Given the description of an element on the screen output the (x, y) to click on. 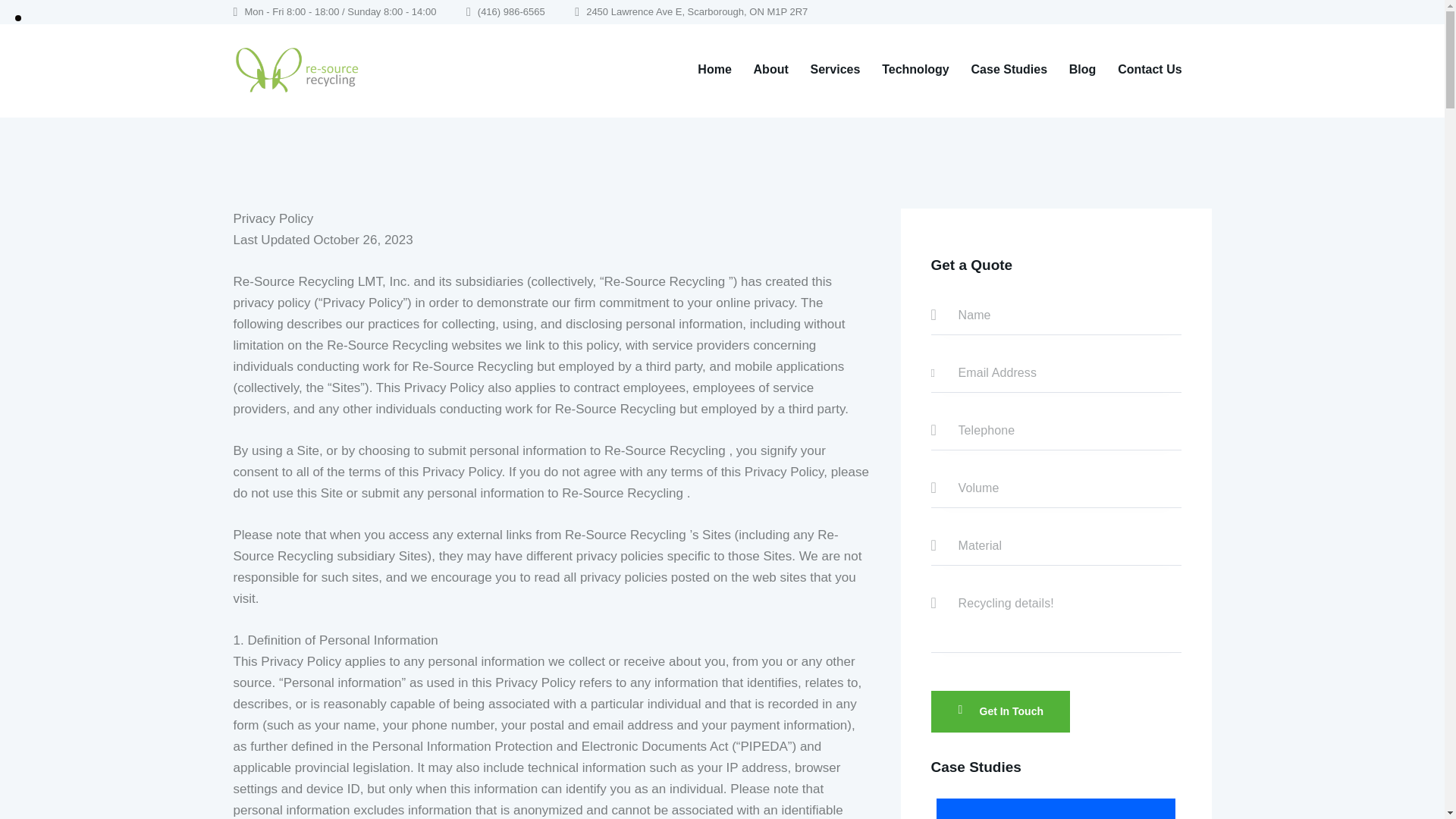
Blog (1082, 70)
Services (834, 70)
Case Studies (1008, 70)
About (770, 70)
Home (714, 70)
Get In Touch (1000, 711)
Technology (914, 70)
Contact Us (1149, 70)
